Given the description of an element on the screen output the (x, y) to click on. 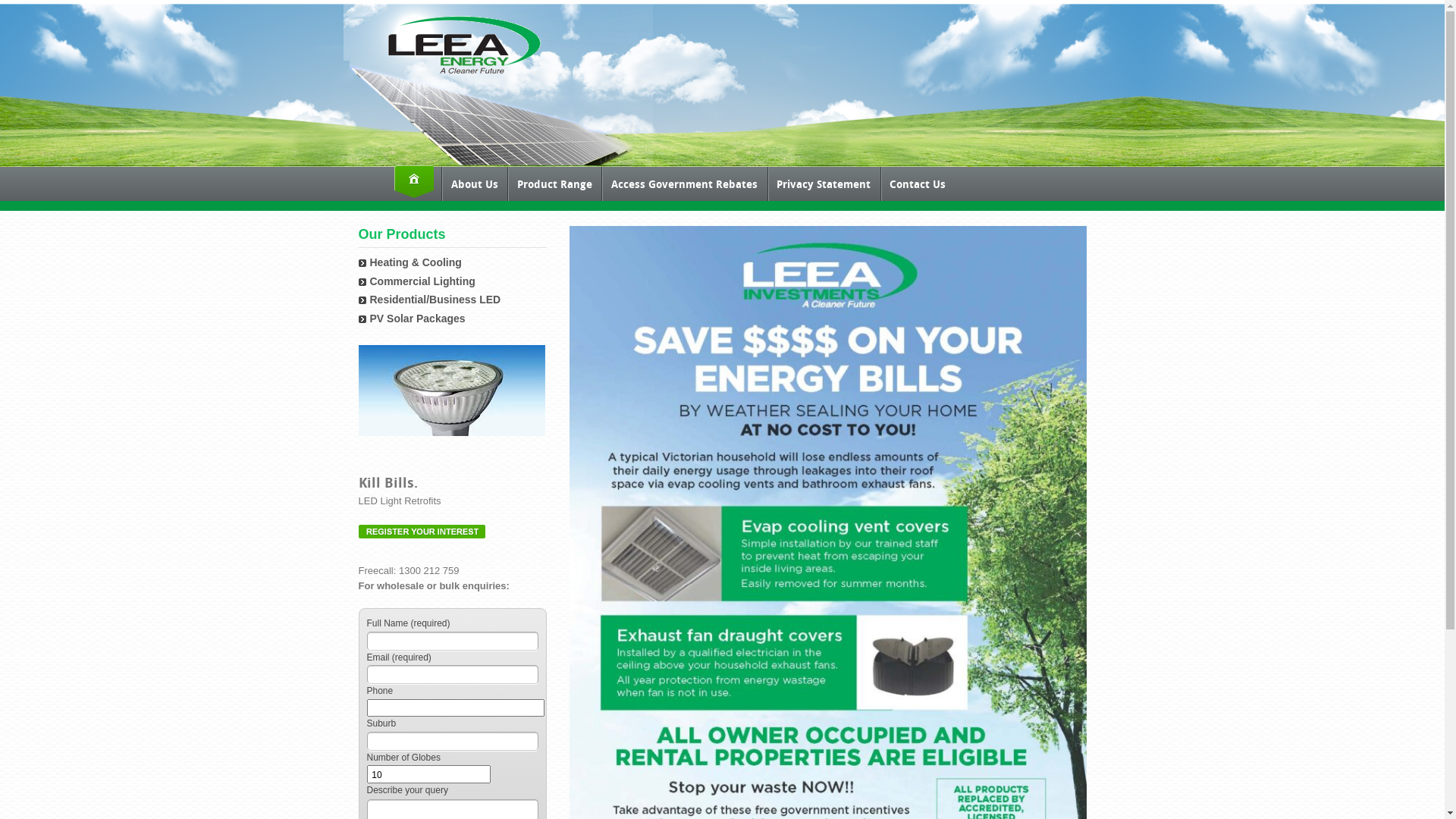
Heating & Cooling Element type: text (415, 262)
Access Government Rebates Element type: text (683, 183)
PV Solar Packages Element type: text (417, 318)
Product Range Element type: text (554, 183)
Residential/Business LED Element type: text (435, 299)
Privacy Statement Element type: text (823, 183)
Home Element type: text (413, 181)
Commercial Lighting Element type: text (422, 280)
About Us Element type: text (474, 183)
Contact Us Element type: text (917, 183)
